Given the description of an element on the screen output the (x, y) to click on. 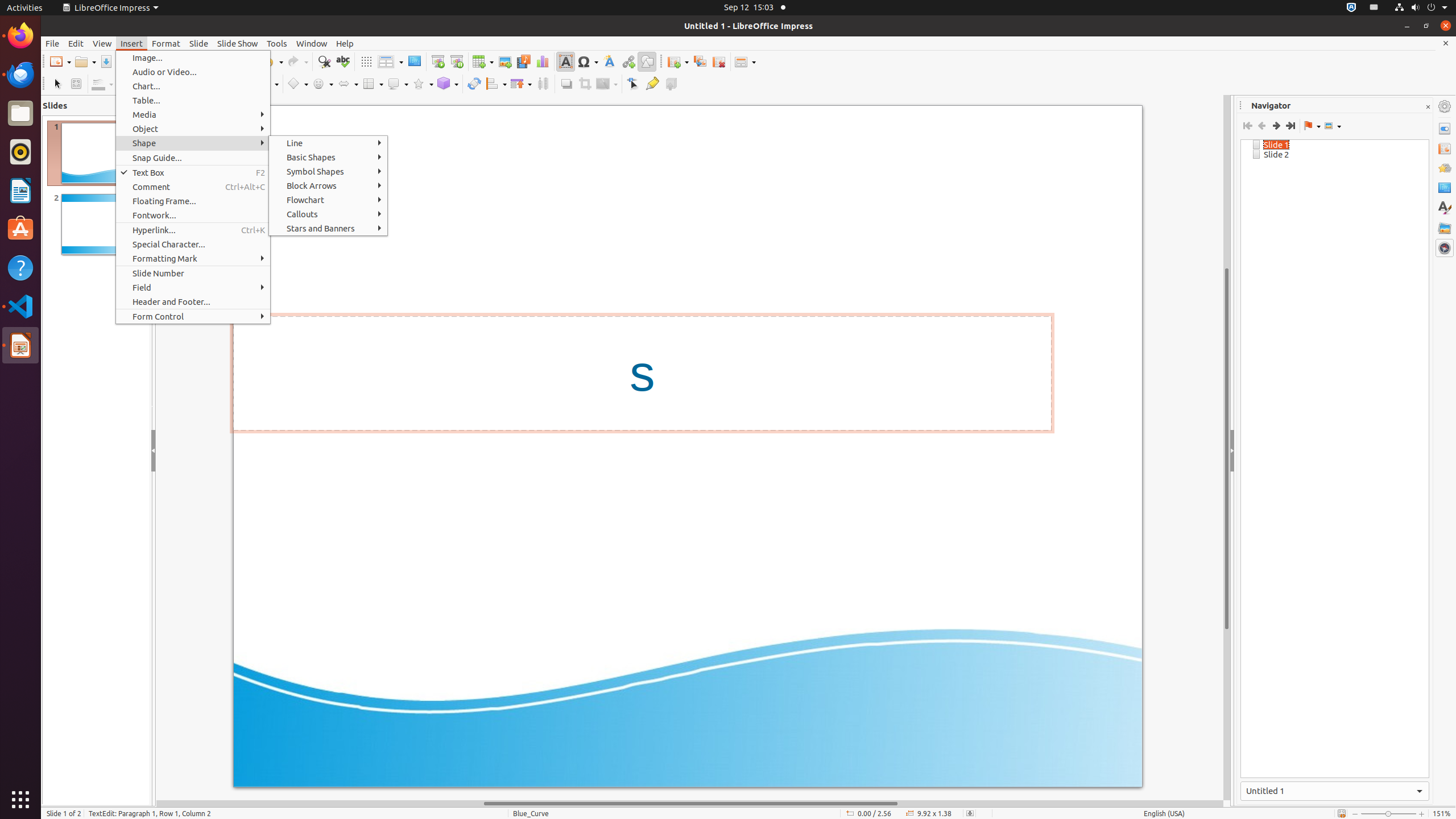
Field Element type: menu (193, 287)
Thunderbird Mail Element type: push-button (20, 74)
Flowchart Element type: menu (328, 199)
View Element type: menu (102, 43)
